Given the description of an element on the screen output the (x, y) to click on. 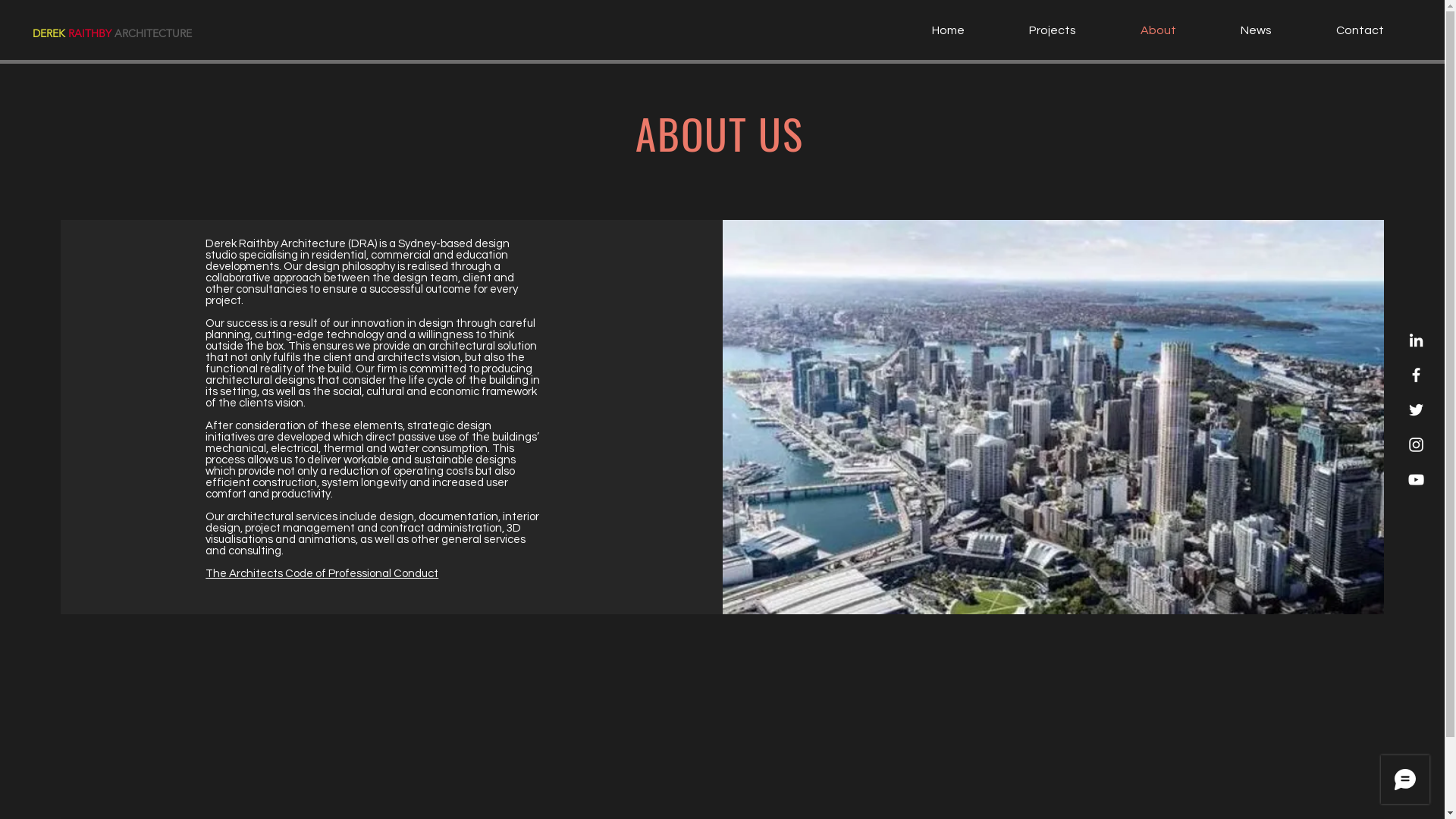
Projects Element type: text (1031, 30)
News Element type: text (1235, 30)
Contact Element type: text (1339, 30)
About Element type: text (1137, 30)
The Architects Code of Professional Conduct Element type: text (321, 573)
Home Element type: text (926, 30)
DEREK RAITHBY ARCHITECTURE Element type: text (111, 33)
